Given the description of an element on the screen output the (x, y) to click on. 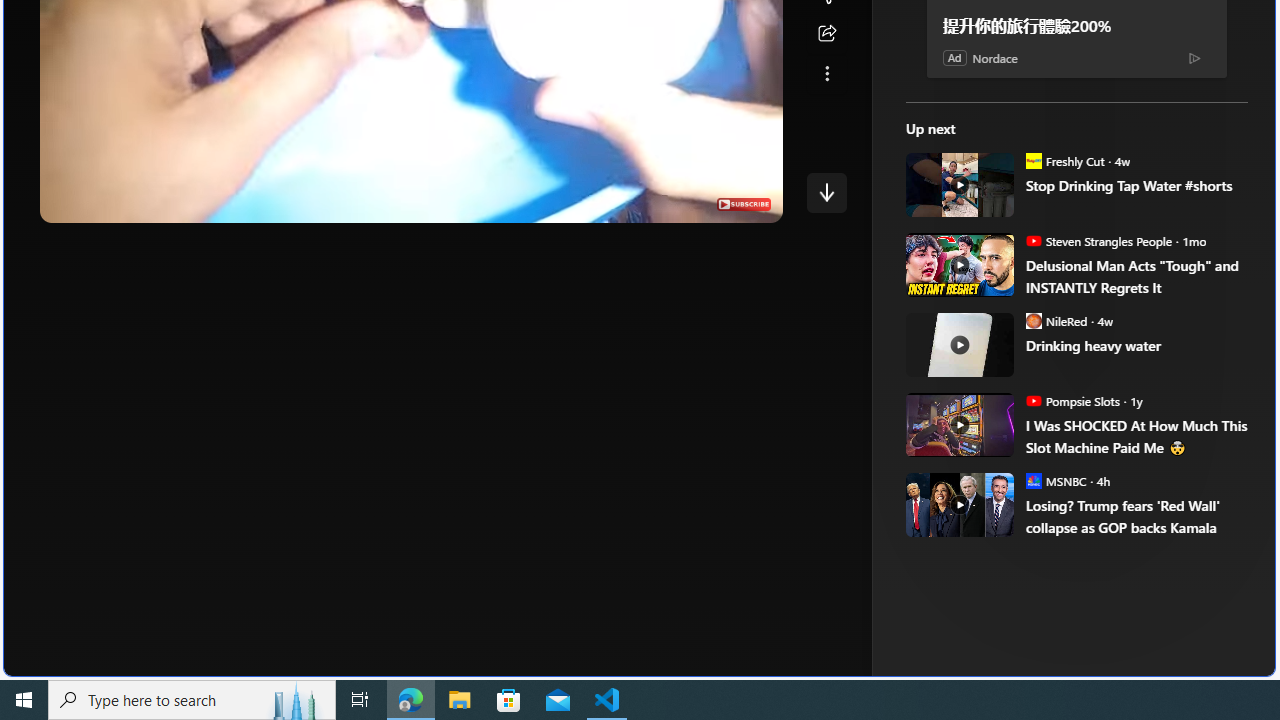
Pause (k) (75, 202)
Delusional Man Acts "Tough" and INSTANTLY Regrets It (958, 263)
Nordace (994, 57)
